Given the description of an element on the screen output the (x, y) to click on. 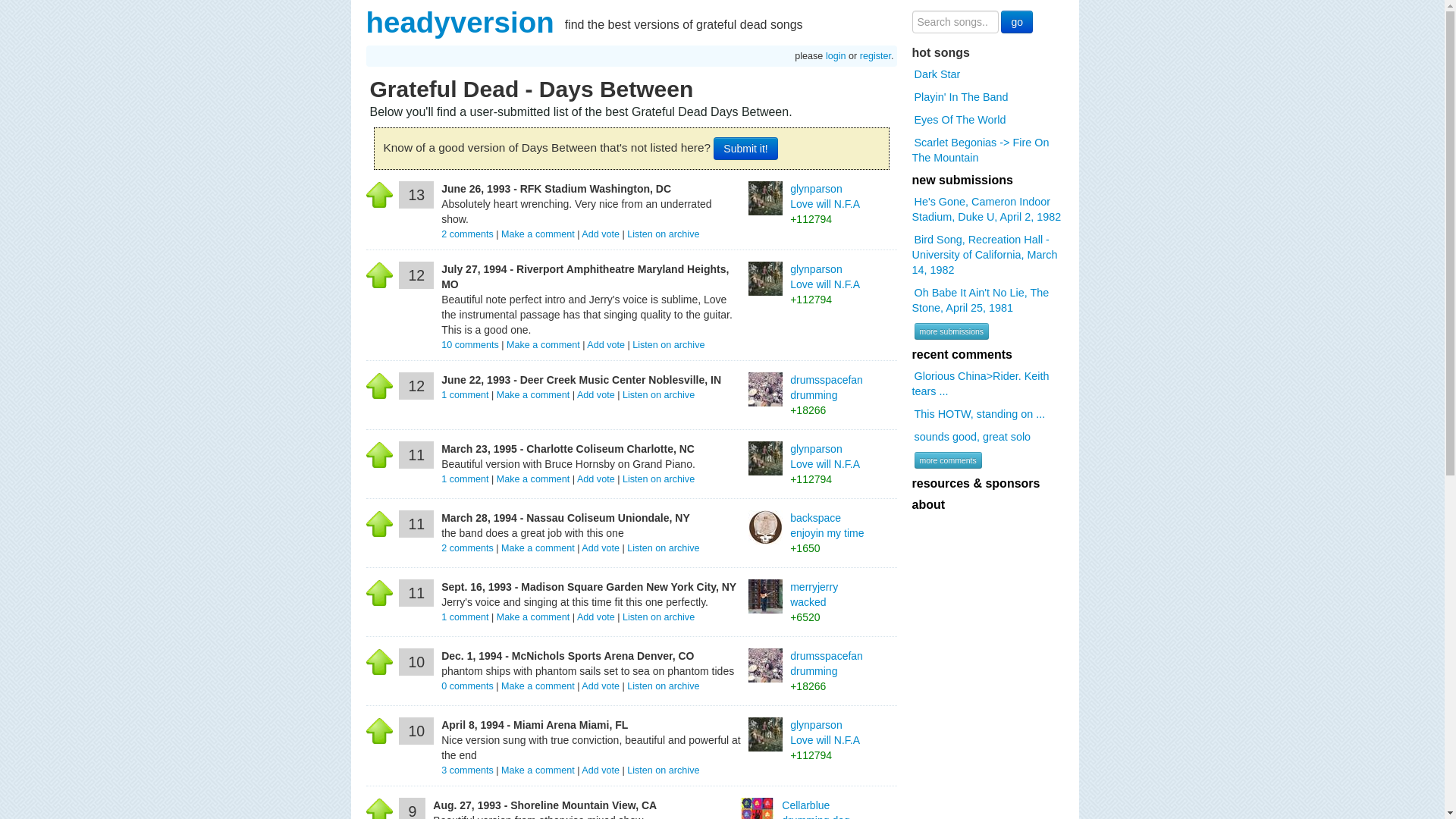
Make a comment (533, 616)
Add vote (595, 394)
Listen on archive (658, 616)
Add vote (595, 616)
2 comments (468, 234)
login (835, 55)
June 26, 1993 - RFK Stadium Washington, DC (556, 188)
1 comment (466, 479)
1 comment (466, 394)
go (1016, 21)
Add vote (600, 547)
Add vote (605, 344)
go (1016, 21)
Listen on archive (662, 234)
Listen on archive (667, 344)
